Given the description of an element on the screen output the (x, y) to click on. 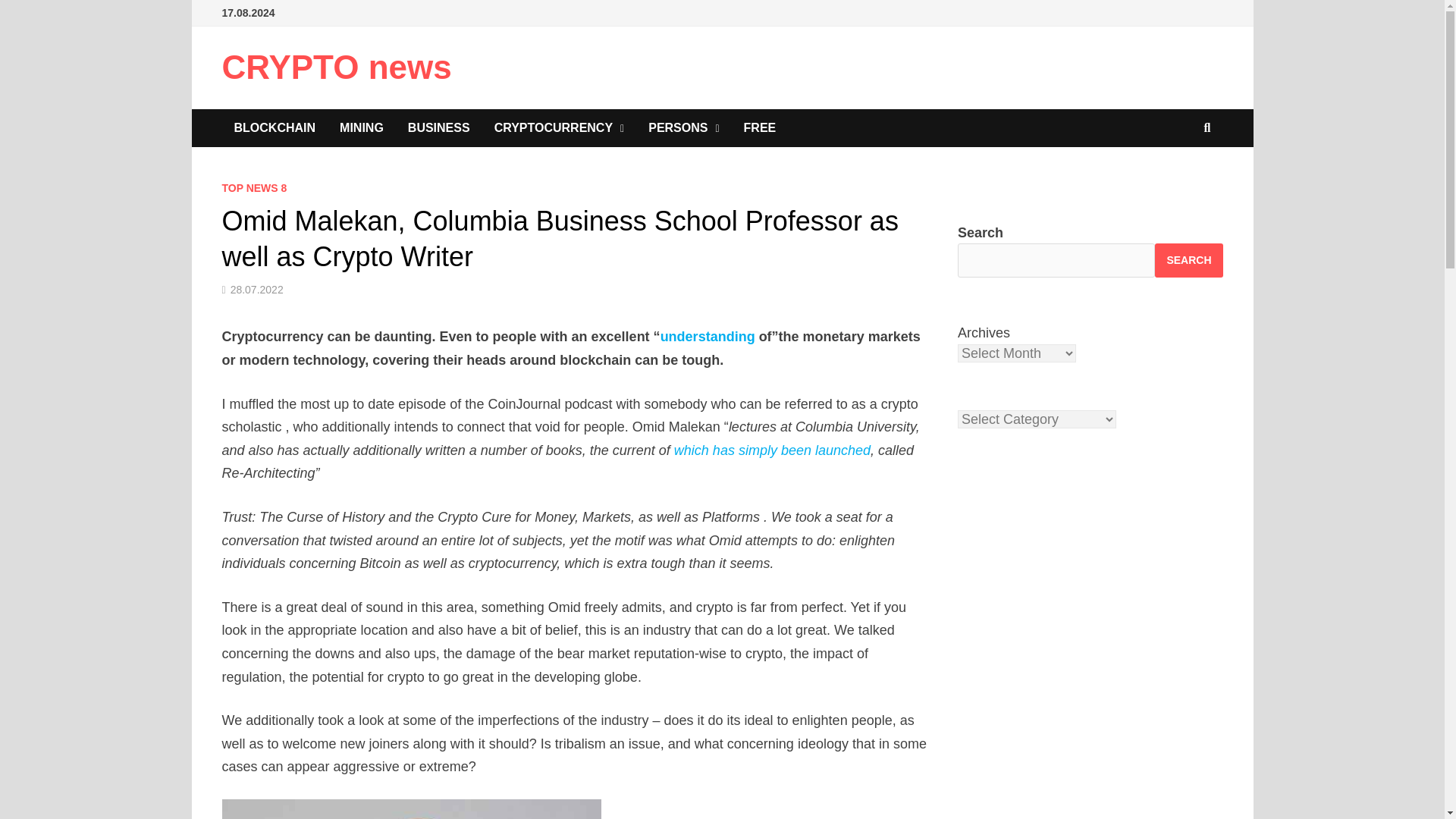
CRYPTOCURRENCY (559, 127)
CRYPTO news (336, 66)
BUSINESS (438, 127)
FREE (760, 127)
PERSONS (683, 127)
BLOCKCHAIN (274, 127)
MINING (361, 127)
